Given the description of an element on the screen output the (x, y) to click on. 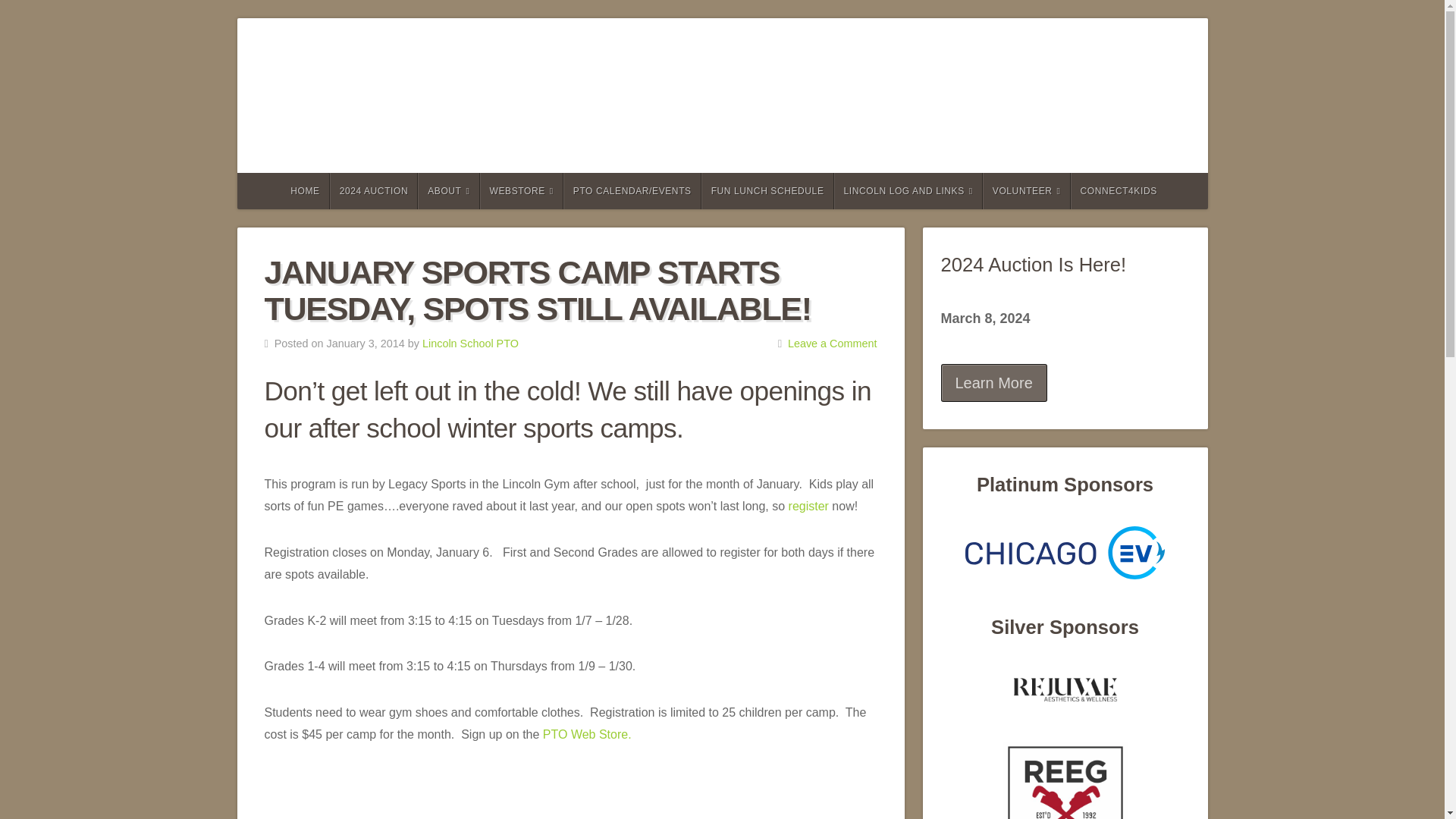
FUN LUNCH SCHEDULE (767, 190)
ABOUT (448, 190)
CONNECT4KIDS (1118, 190)
LINCOLN LOG AND LINKS (908, 190)
WEBSTORE (521, 190)
2024 AUCTION (374, 190)
Learn More (993, 382)
Leave a Comment (832, 343)
HOME (303, 190)
VOLUNTEER (1026, 190)
